Given the description of an element on the screen output the (x, y) to click on. 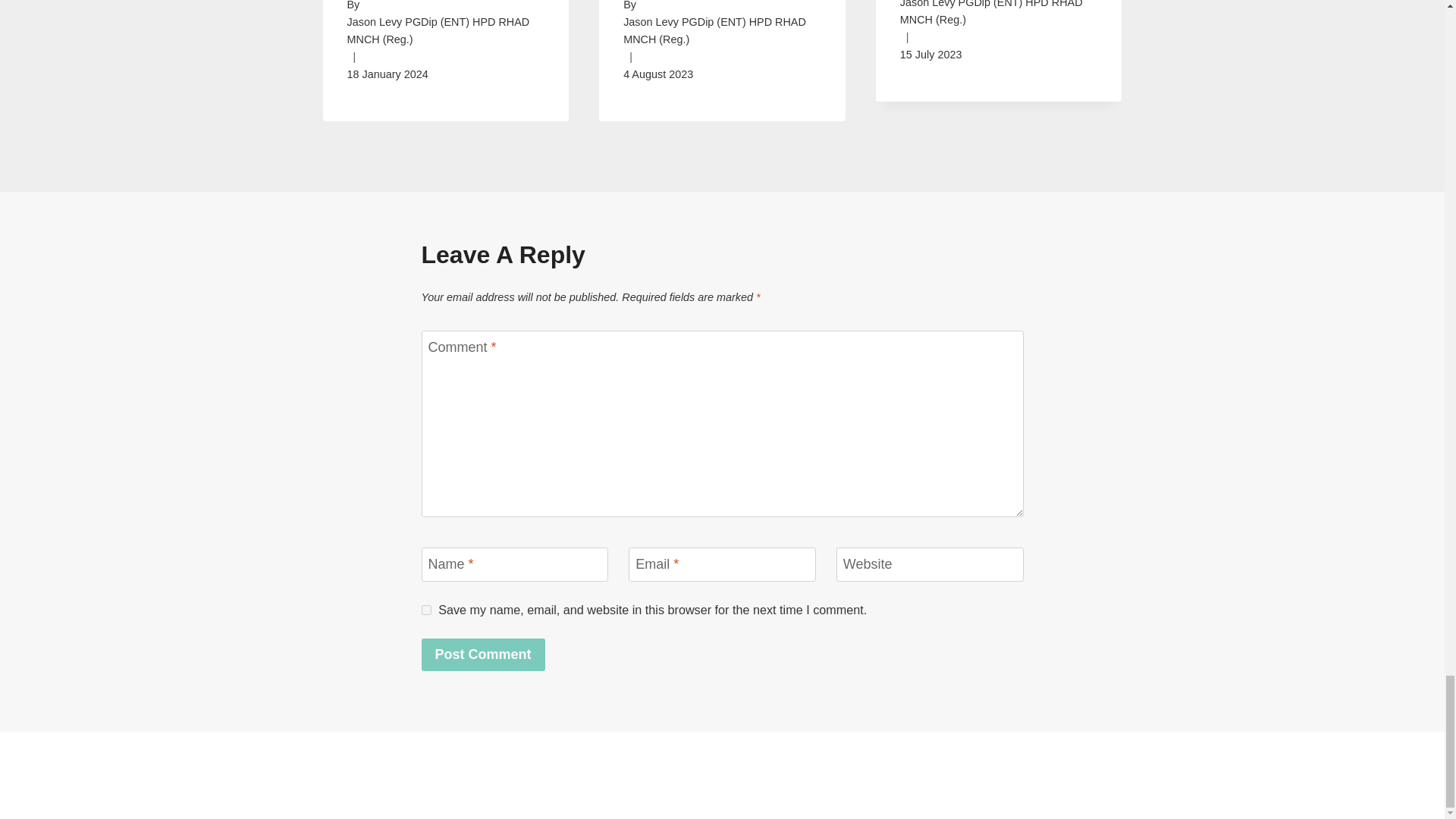
yes (426, 610)
Post Comment (483, 654)
